Given the description of an element on the screen output the (x, y) to click on. 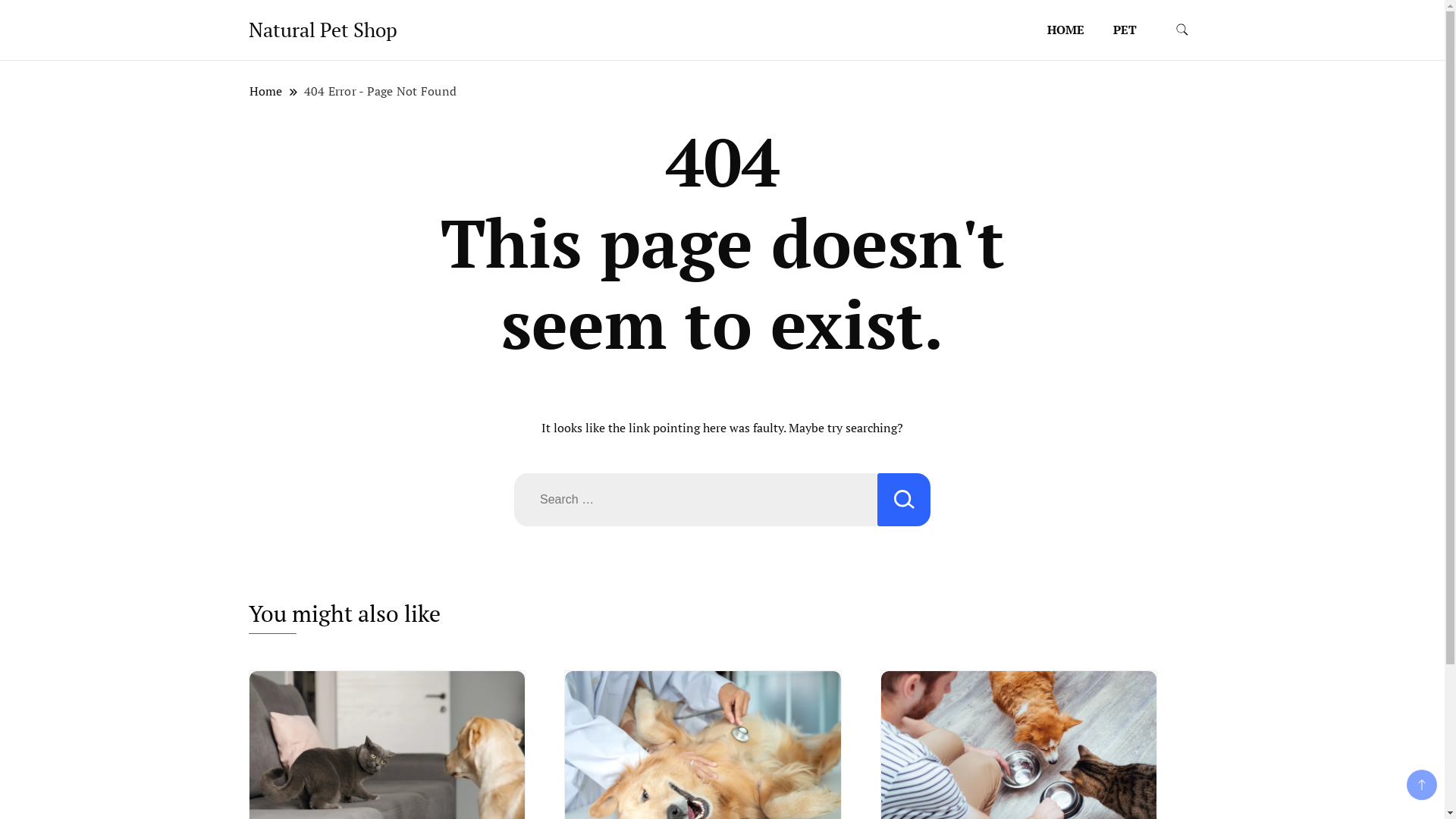
HOME Element type: text (1065, 29)
404 Error - Page Not Found Element type: text (380, 90)
Natural Pet Shop Element type: text (322, 29)
Search Element type: text (903, 499)
PET Element type: text (1124, 29)
Home Element type: text (265, 90)
